Given the description of an element on the screen output the (x, y) to click on. 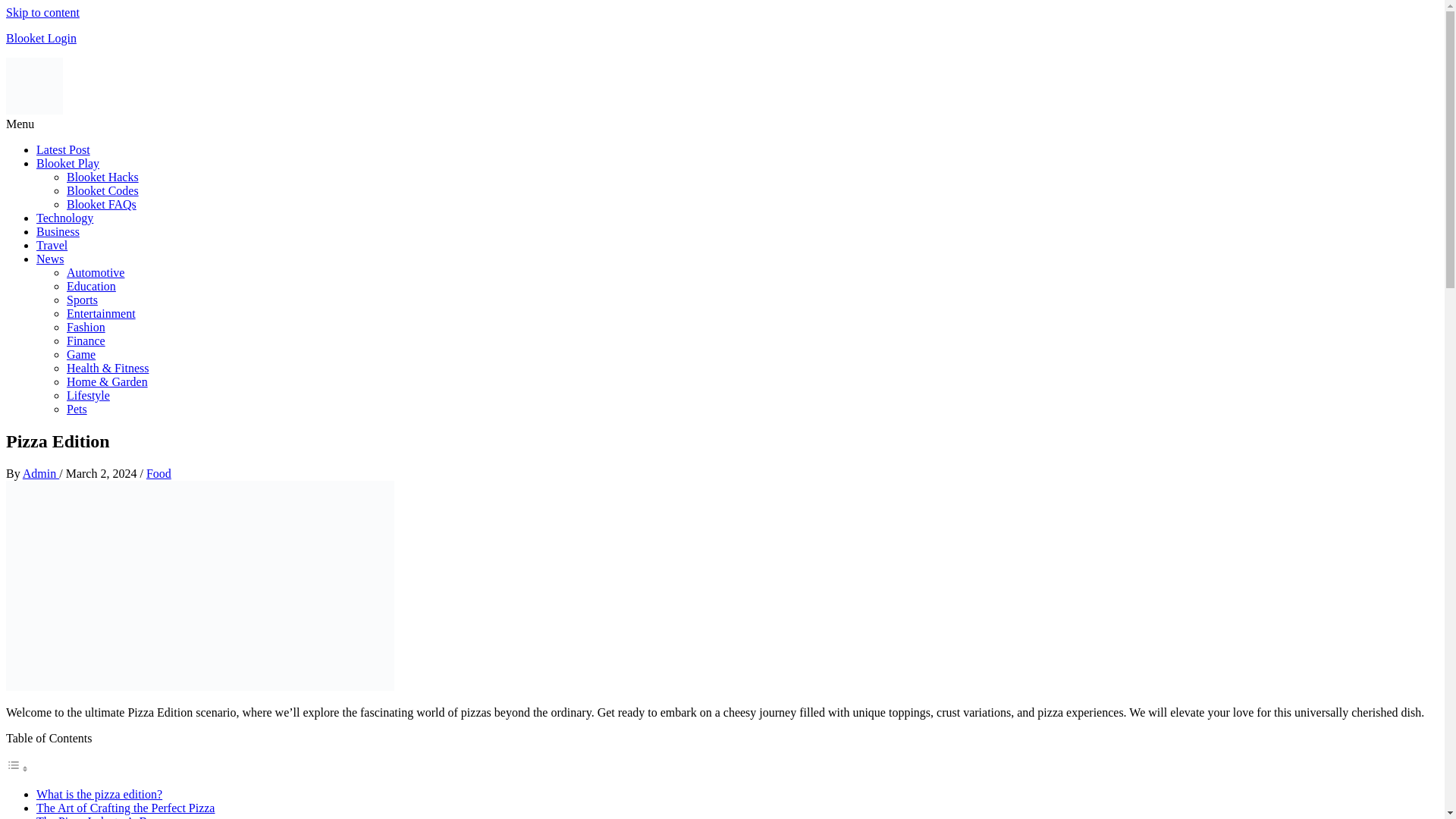
Pets (76, 408)
Sports (81, 299)
Skip to content (42, 11)
Skip to content (42, 11)
Blooket Login (41, 38)
Entertainment (100, 313)
Blooket FAQs (101, 204)
What is the pizza edition? (98, 793)
Blooket Codes (102, 190)
Business (58, 231)
